Given the description of an element on the screen output the (x, y) to click on. 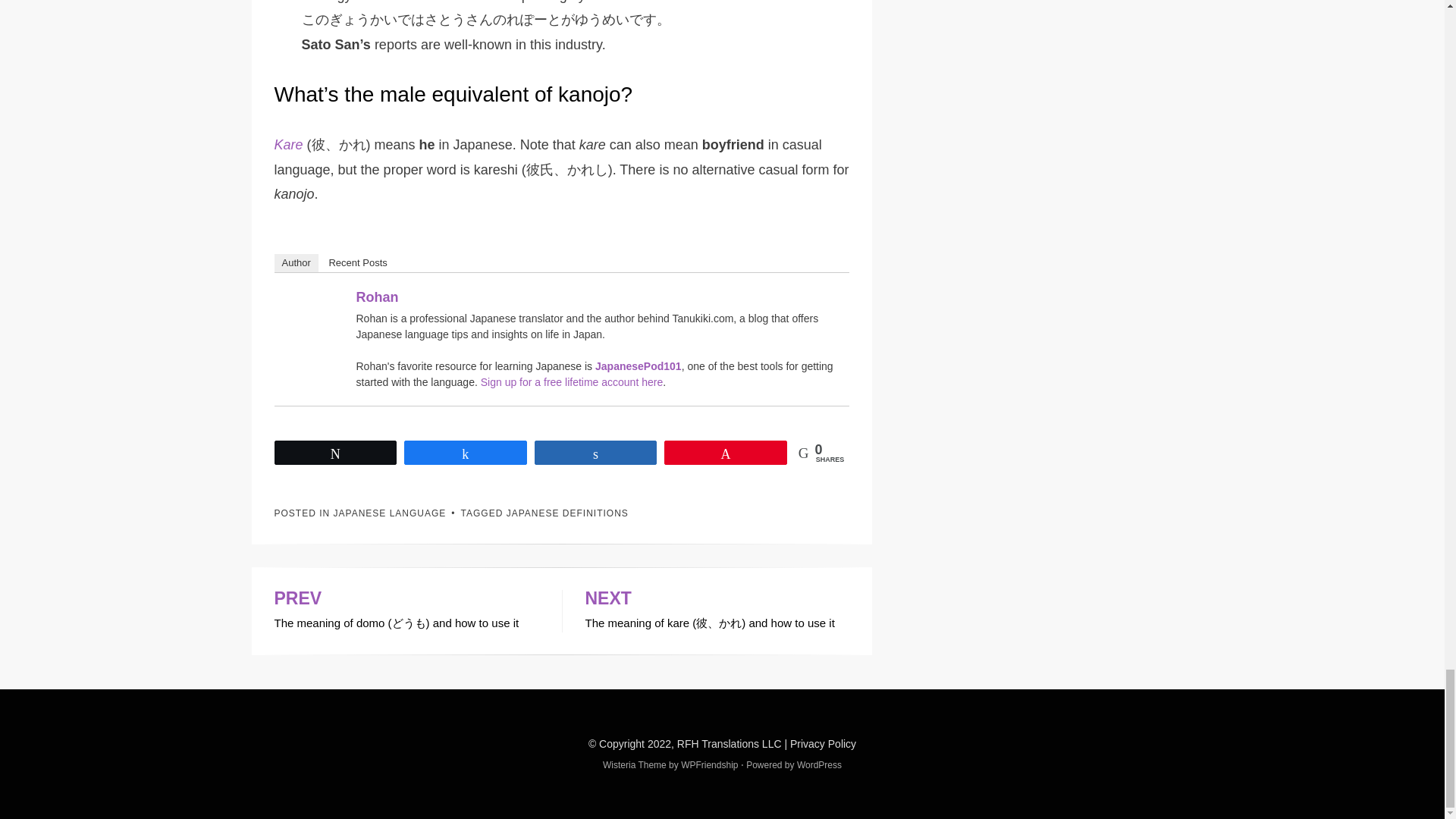
Recent Posts (357, 262)
WordPress (818, 765)
Author (296, 262)
Sign up for a free lifetime account here (571, 381)
Rohan (377, 296)
JAPANESE LANGUAGE (389, 512)
WPFriendship (709, 765)
Rohan (313, 324)
Kare (288, 144)
JAPANESE DEFINITIONS (567, 512)
JapanesePod101 (638, 366)
